Given the description of an element on the screen output the (x, y) to click on. 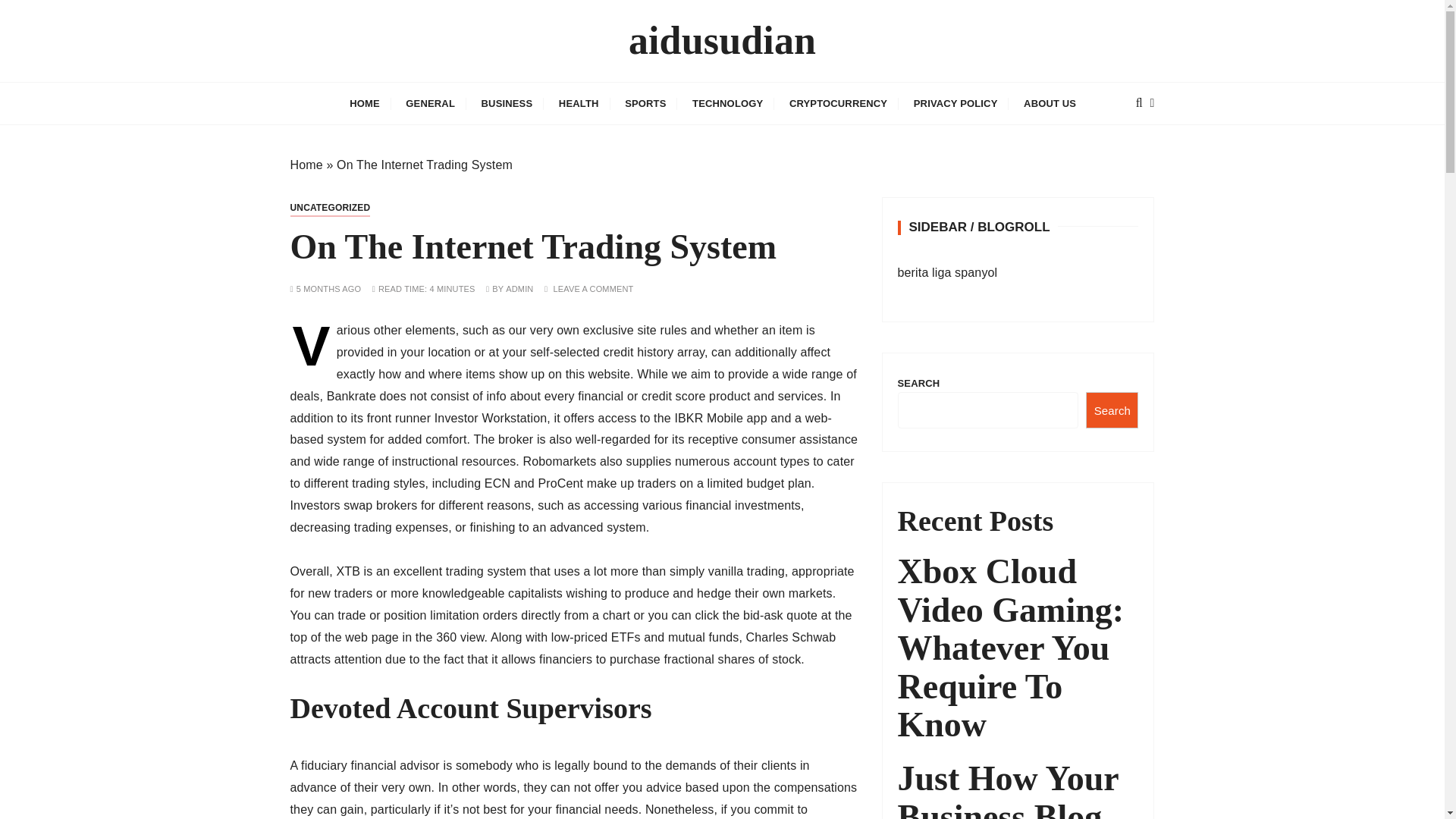
LEAVE A COMMENT (593, 289)
ABOUT US (1049, 103)
Xbox Cloud Video Gaming: Whatever You Require To Know (1018, 648)
CRYPTOCURRENCY (837, 103)
PRIVACY POLICY (955, 103)
UNCATEGORIZED (329, 208)
HOME (364, 103)
TECHNOLOGY (727, 103)
aidusudian (721, 40)
BUSINESS (507, 103)
